Given the description of an element on the screen output the (x, y) to click on. 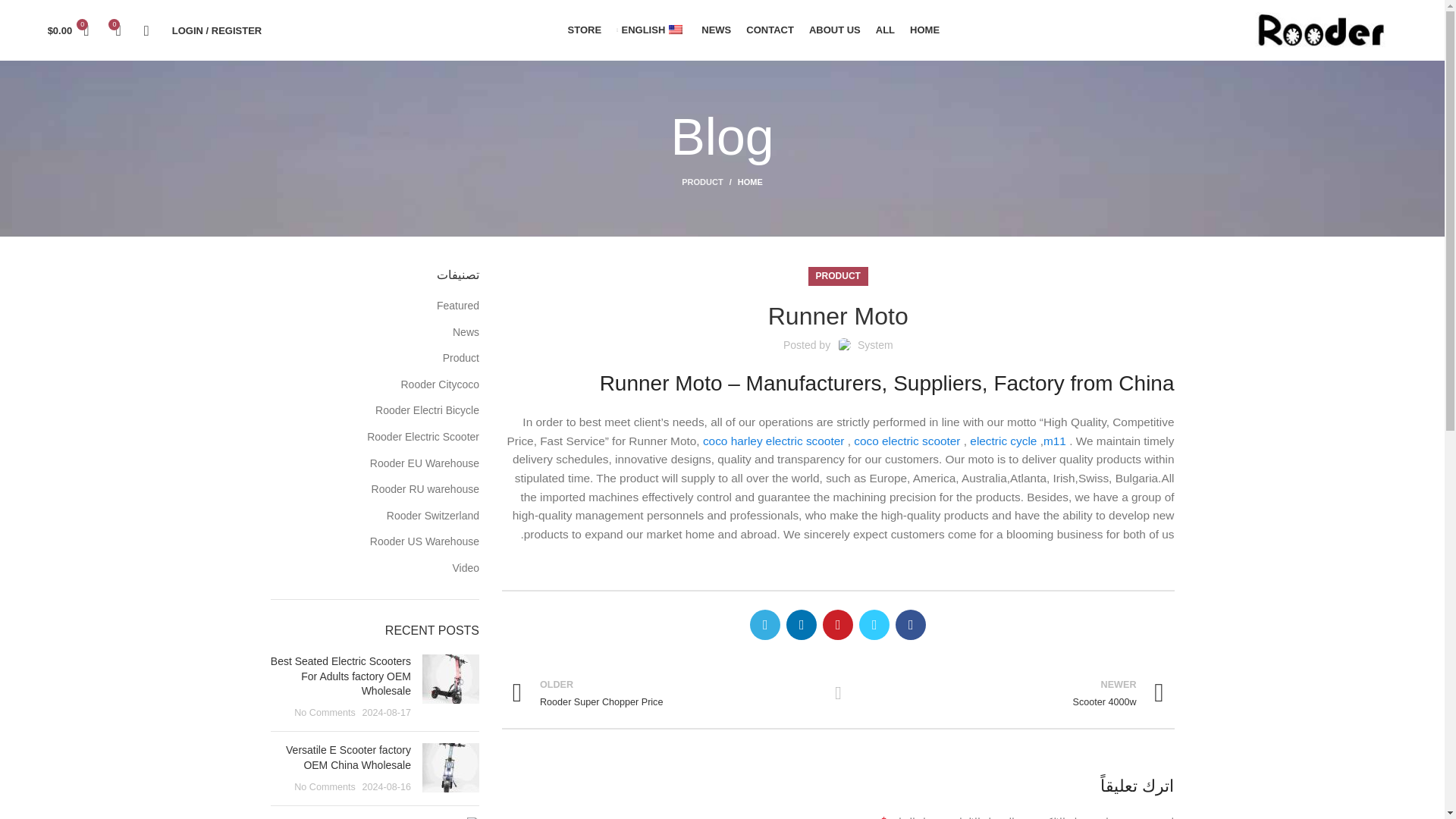
HOME (742, 182)
NEWS (716, 30)
coco electric scooter (906, 440)
My account (216, 30)
Shopping cart (68, 30)
English (675, 29)
electric cycle (1002, 440)
STORE (585, 30)
ALL (884, 30)
PRODUCT (837, 275)
